Given the description of an element on the screen output the (x, y) to click on. 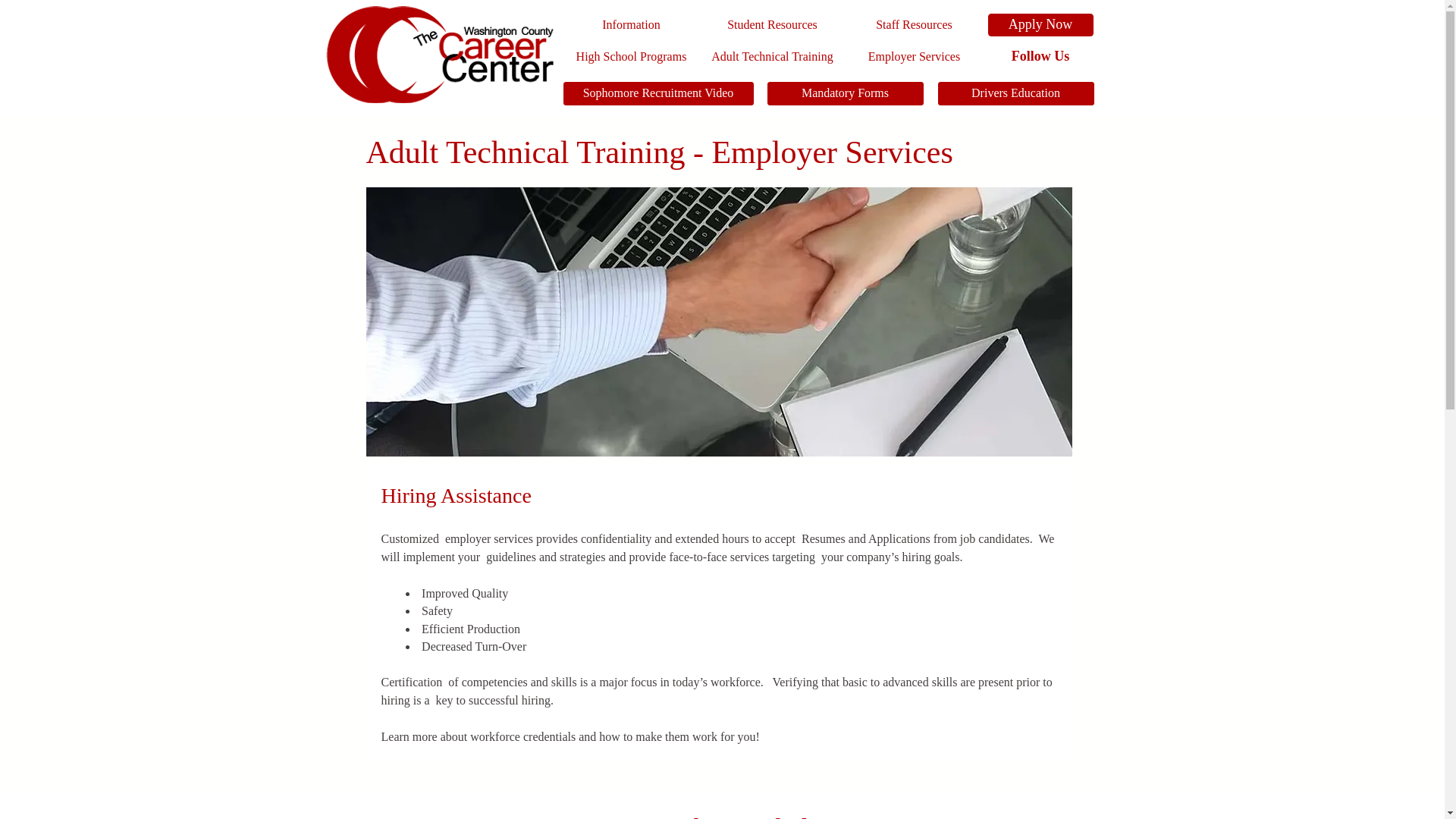
Apply Now (1040, 24)
Drivers Education (1015, 93)
Adult Technical Training (771, 56)
High School Programs (630, 56)
Sophomore Recruitment Video (657, 93)
Mandatory Forms (845, 93)
Student Resources (771, 24)
Staff Resources (913, 24)
Employer Services (913, 56)
Information (630, 24)
Follow Us (1040, 56)
